Given the description of an element on the screen output the (x, y) to click on. 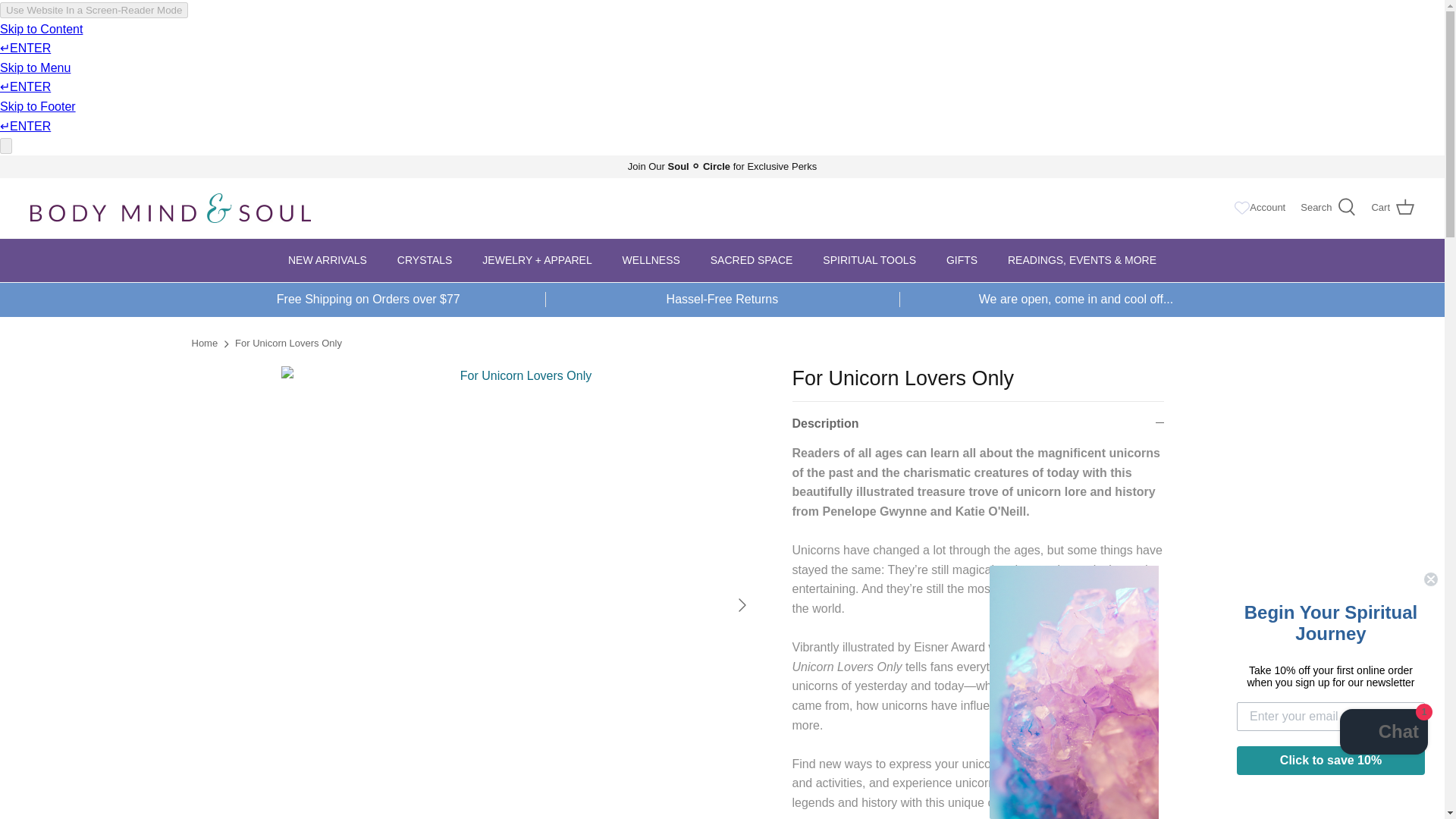
CRYSTALS (424, 260)
Cart (1392, 207)
Shopify online store chat (1383, 733)
Search (1327, 207)
RIGHT (741, 604)
NEW ARRIVALS (327, 260)
Account (1267, 207)
